Given the description of an element on the screen output the (x, y) to click on. 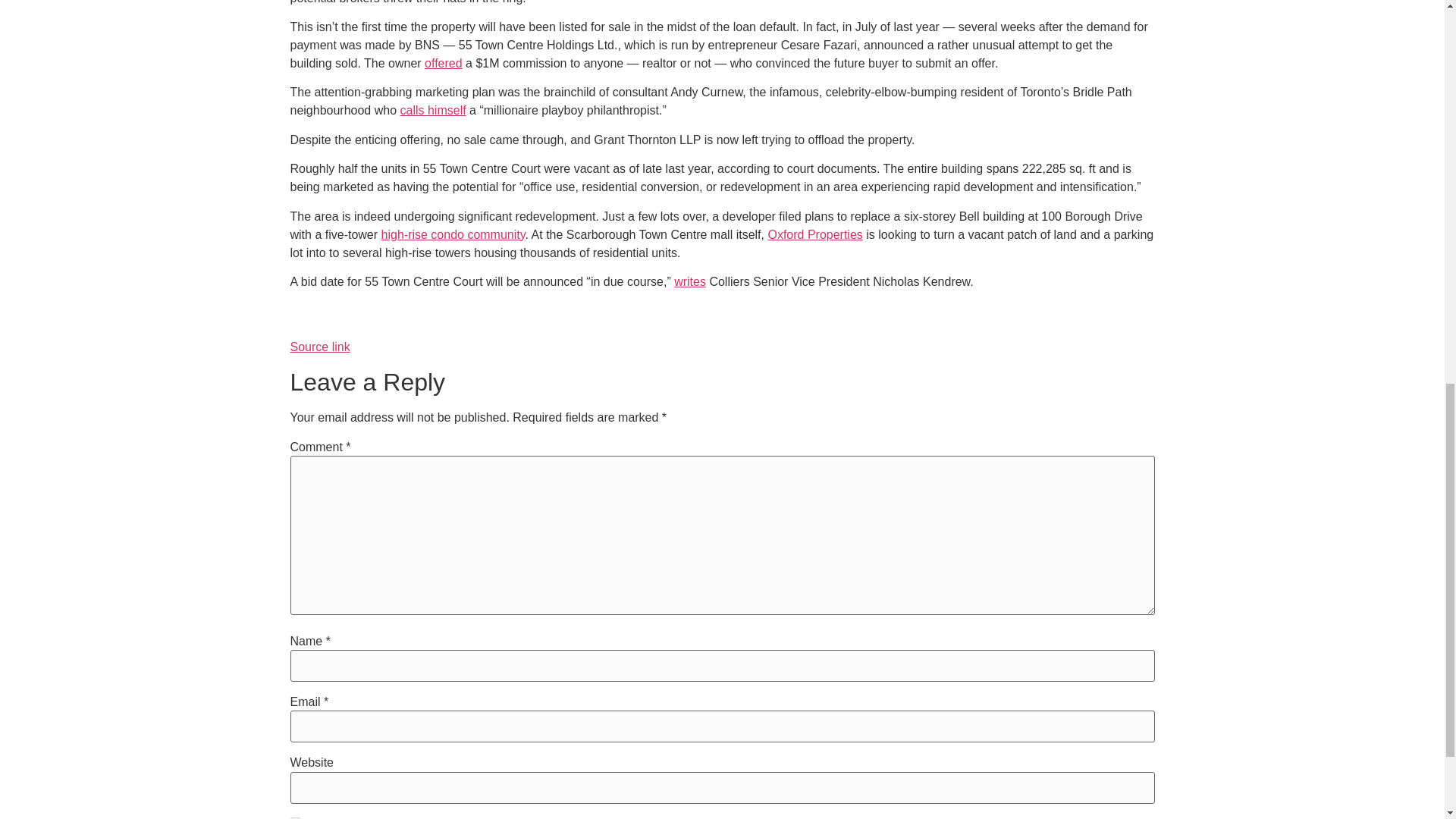
Source link (319, 346)
high-rise condo community (453, 234)
calls himself (432, 110)
Oxford Properties (814, 234)
offered (444, 62)
writes (690, 281)
